Given the description of an element on the screen output the (x, y) to click on. 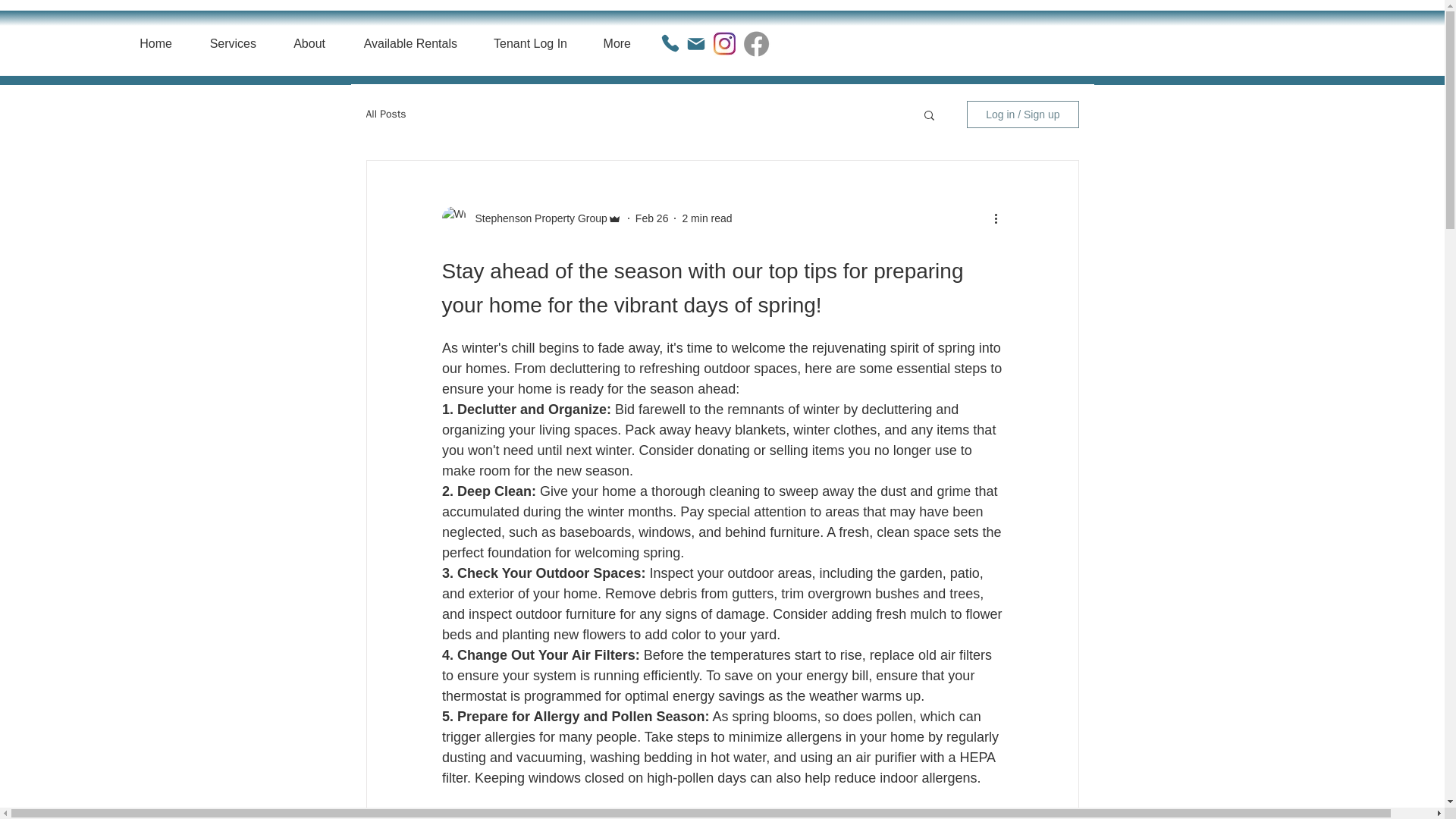
About (301, 43)
Tenant Log In (523, 43)
Feb 26 (651, 218)
All Posts (385, 114)
Available Rentals (402, 43)
2 min read (706, 218)
Stephenson Property Group (536, 218)
Facebook (756, 43)
Services (225, 43)
Home (148, 43)
